Given the description of an element on the screen output the (x, y) to click on. 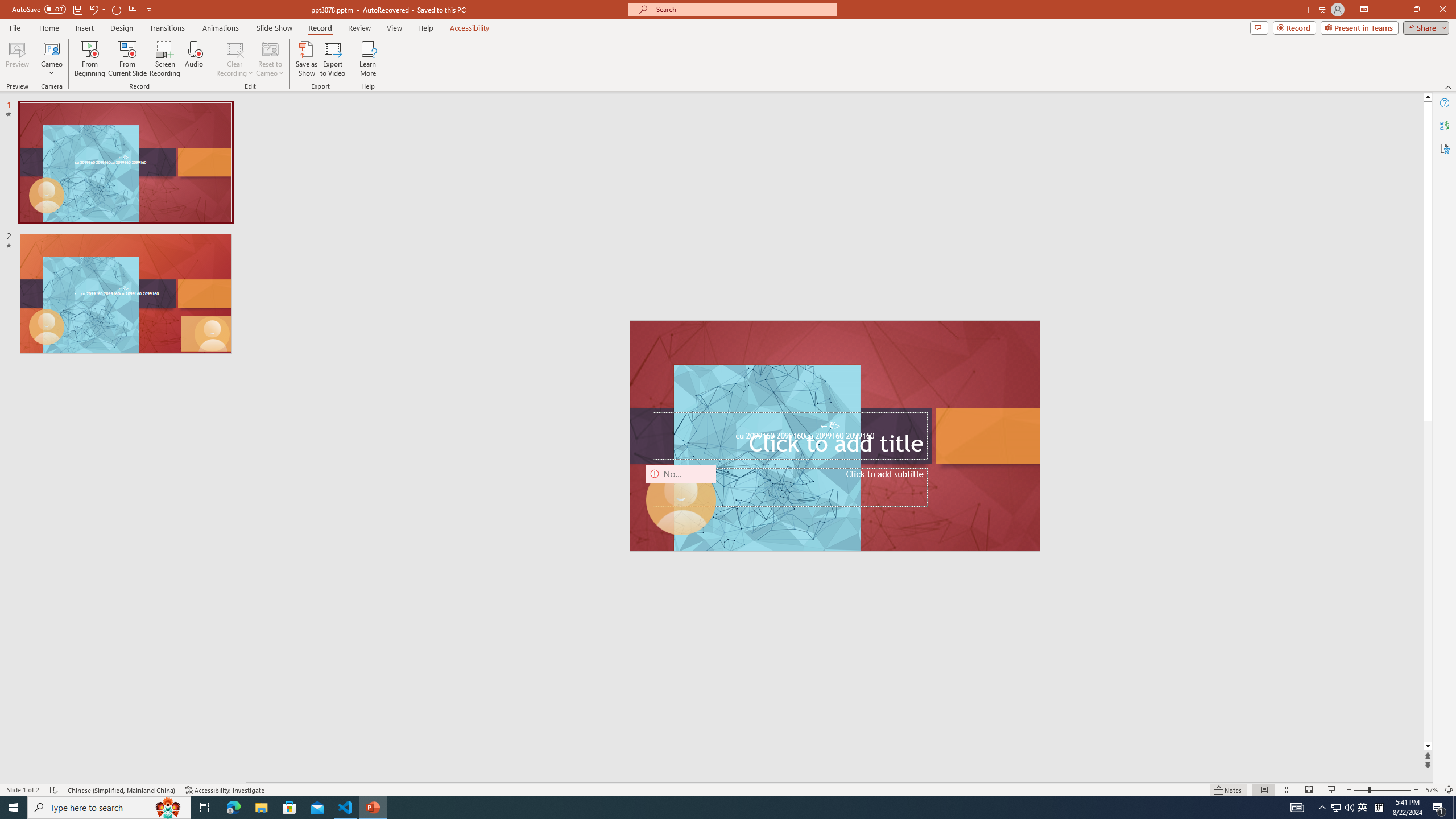
Camera 9, No camera detected. (681, 500)
TextBox 61 (833, 437)
TextBox 7 (830, 426)
Title TextBox (789, 435)
From Current Slide... (127, 58)
Learn More (368, 58)
